Given the description of an element on the screen output the (x, y) to click on. 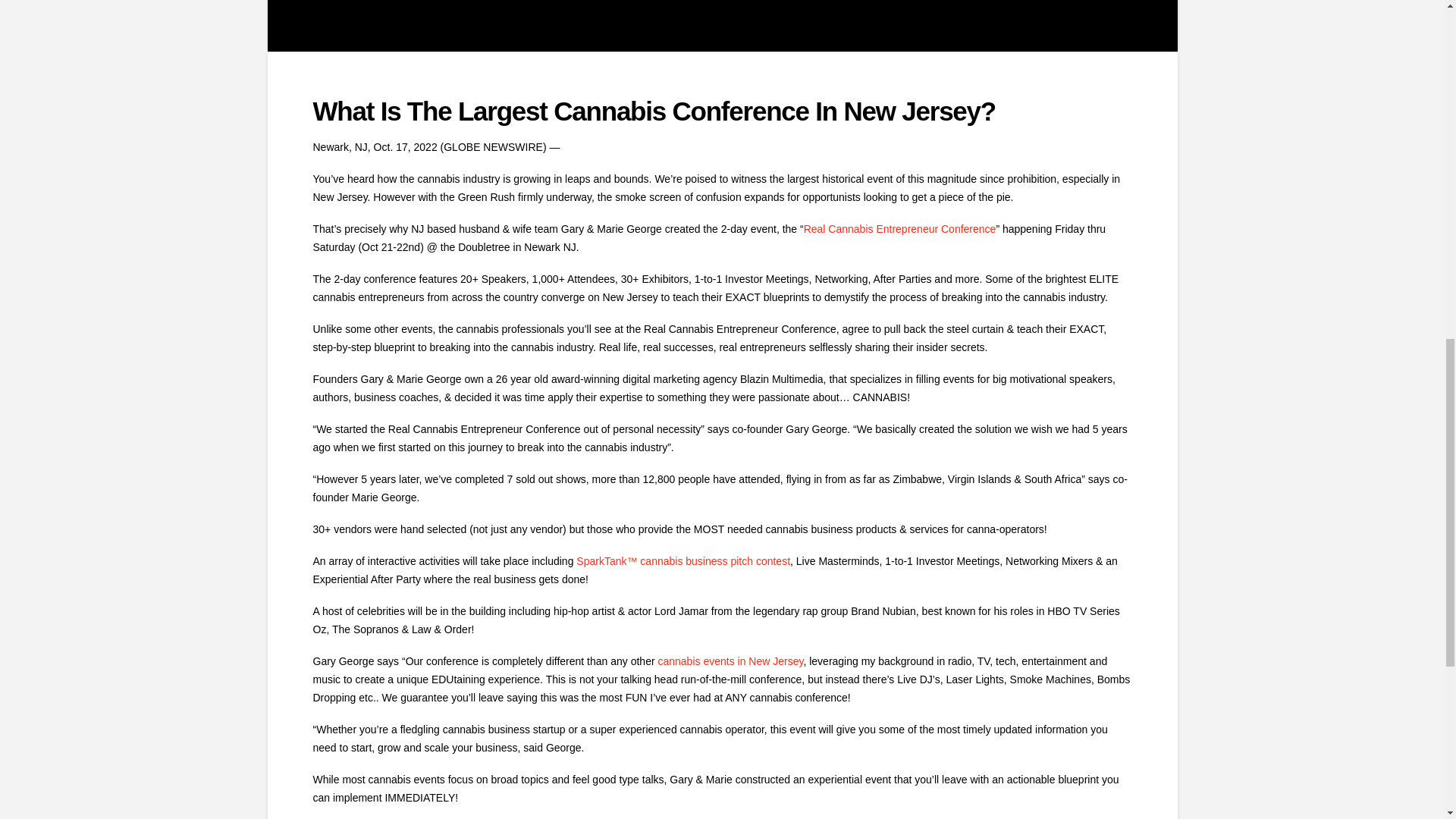
Real Cannabis Entrepreneur Conference (899, 228)
cannabis events in New Jersey (730, 661)
Real Cannabis Entrepreneur Conference (899, 228)
cannabis events in New Jersey (730, 661)
